Given the description of an element on the screen output the (x, y) to click on. 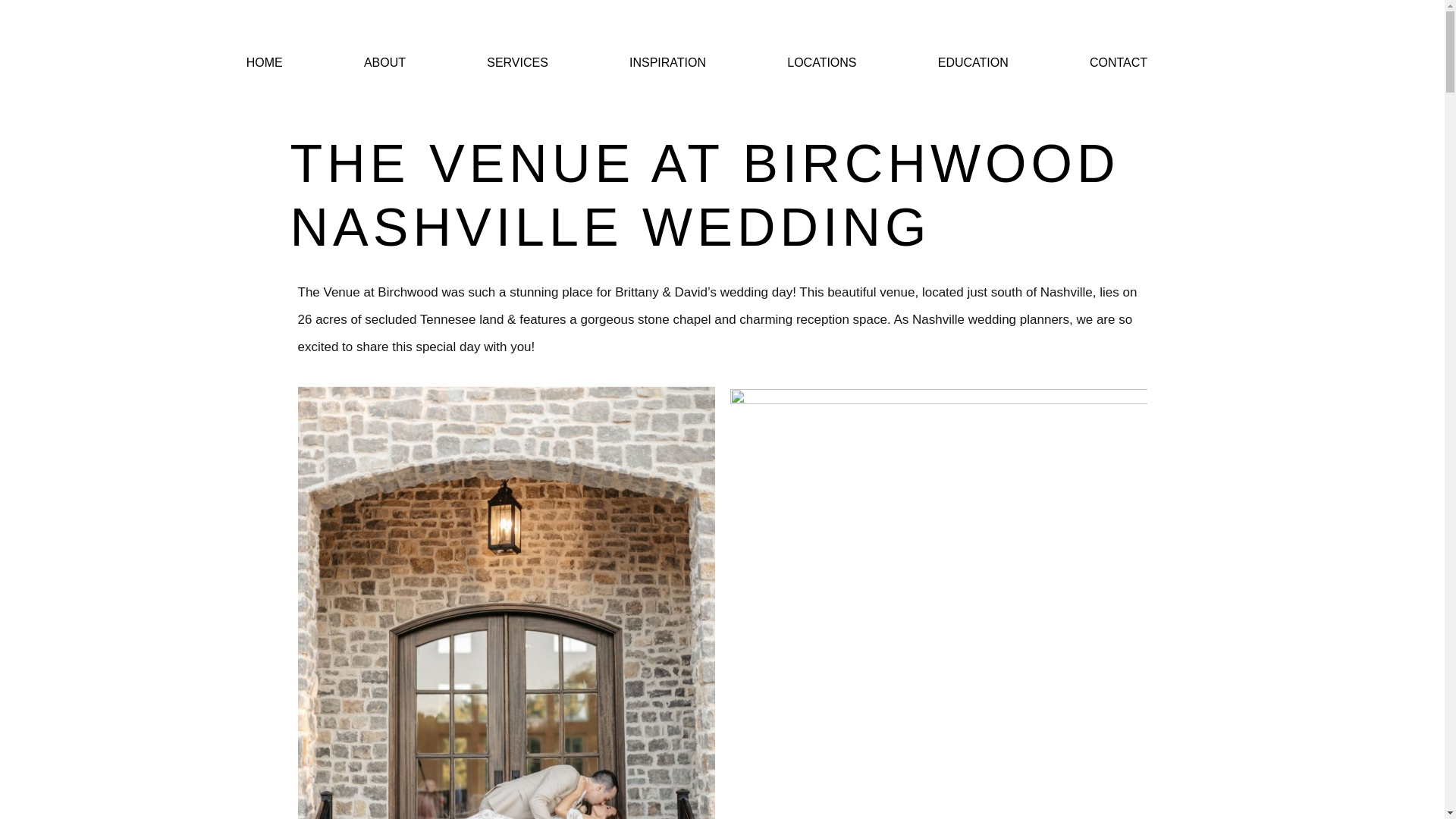
ABOUT (384, 62)
SERVICES (517, 62)
HOME (264, 62)
CONTACT (1117, 62)
INSPIRATION (667, 62)
EDUCATION (973, 62)
LOCATIONS (820, 62)
